Given the description of an element on the screen output the (x, y) to click on. 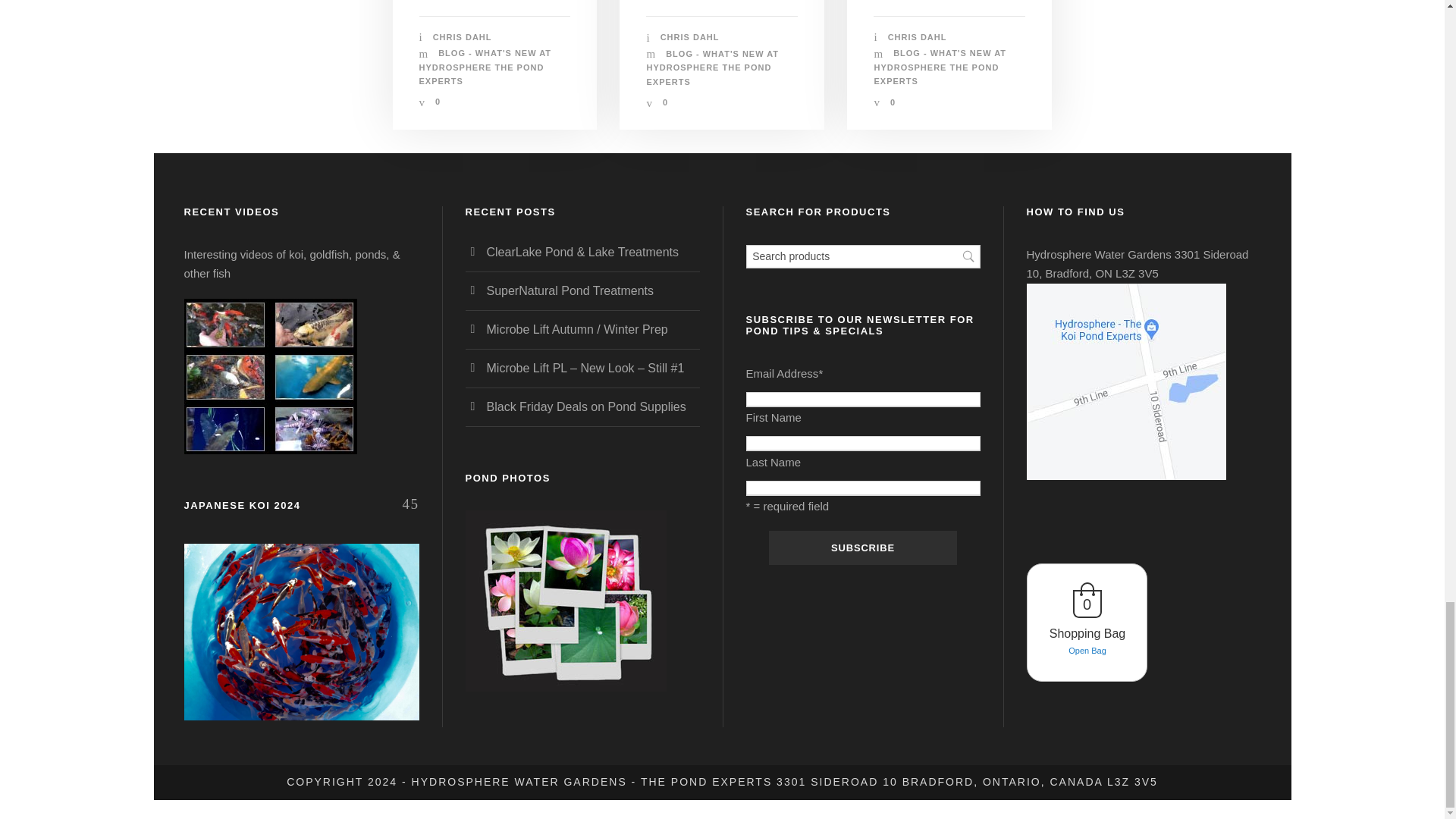
Subscribe (862, 547)
Posts by Chris Dahl (917, 36)
Posts by Chris Dahl (462, 36)
Posts by Chris Dahl (690, 36)
